Given the description of an element on the screen output the (x, y) to click on. 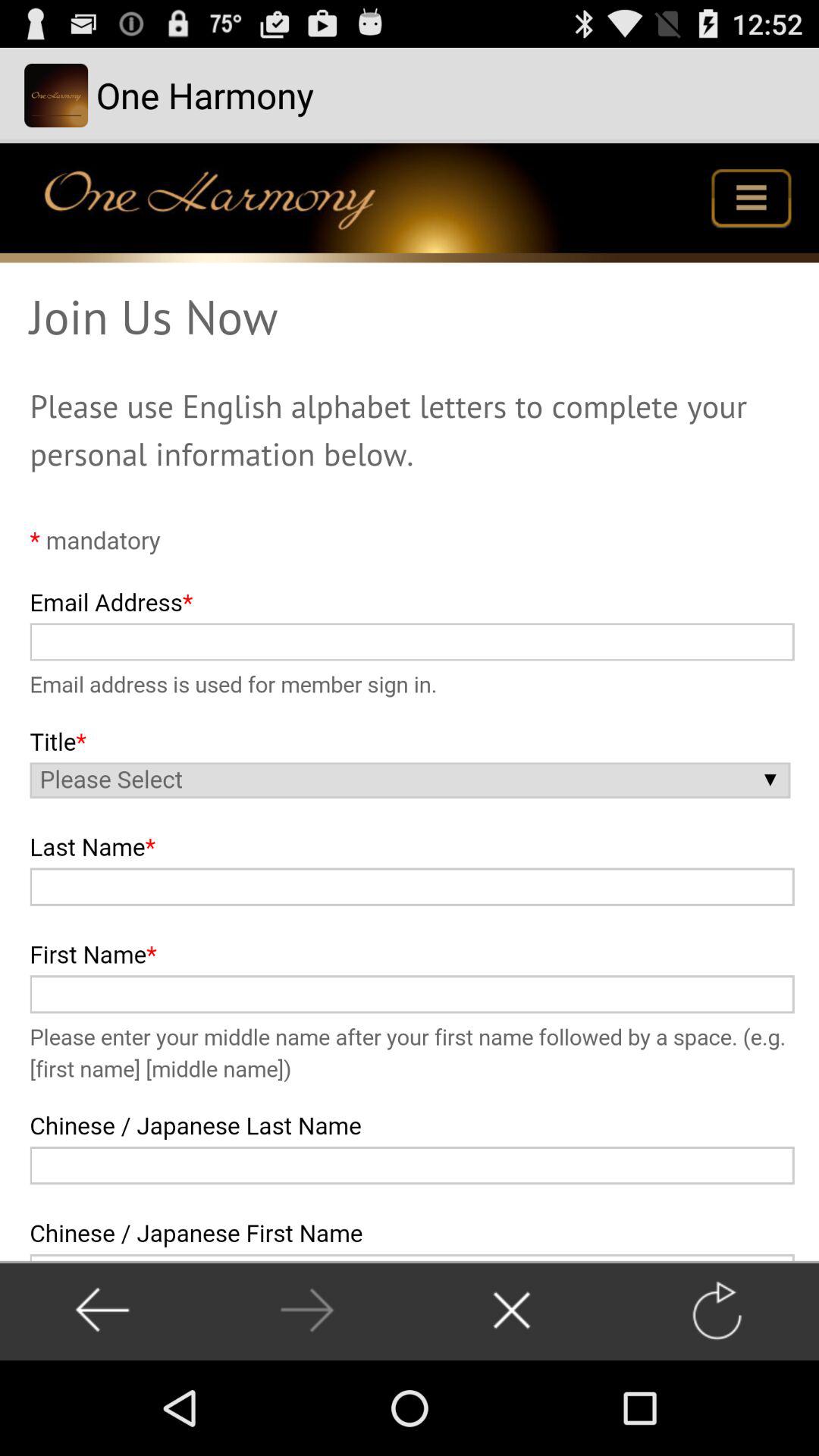
refresh (716, 1310)
